Given the description of an element on the screen output the (x, y) to click on. 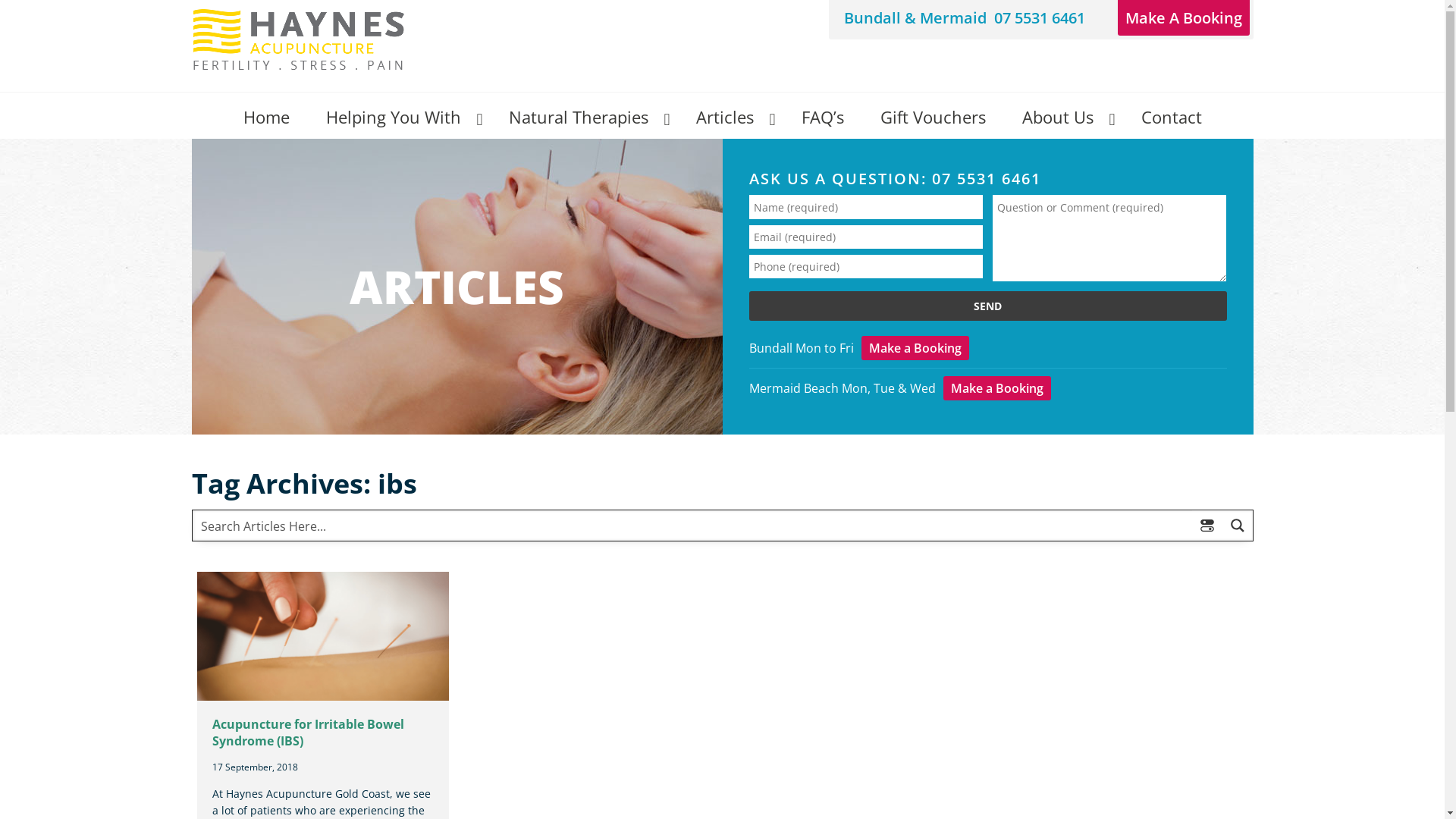
Make A Booking Element type: text (1183, 17)
Home Element type: text (265, 115)
Acupuncture for Irritable Bowel Syndrome (IBS) Element type: text (308, 732)
07 5531 6461 Element type: text (985, 178)
Send Element type: text (987, 305)
Natural Therapies Element type: text (583, 115)
 Bundall & Mermaid  07 5531 6461 Element type: text (962, 17)
Articles Element type: text (730, 115)
Helping You With Element type: text (398, 115)
Gift Vouchers Element type: text (932, 115)
Contact Element type: text (1170, 115)
About Us Element type: text (1063, 115)
Acupuncture for Irritable Bowel Syndrome (IBS) Element type: hover (298, 38)
Make a Booking Element type: text (997, 388)
Make a Booking Element type: text (915, 347)
